Given the description of an element on the screen output the (x, y) to click on. 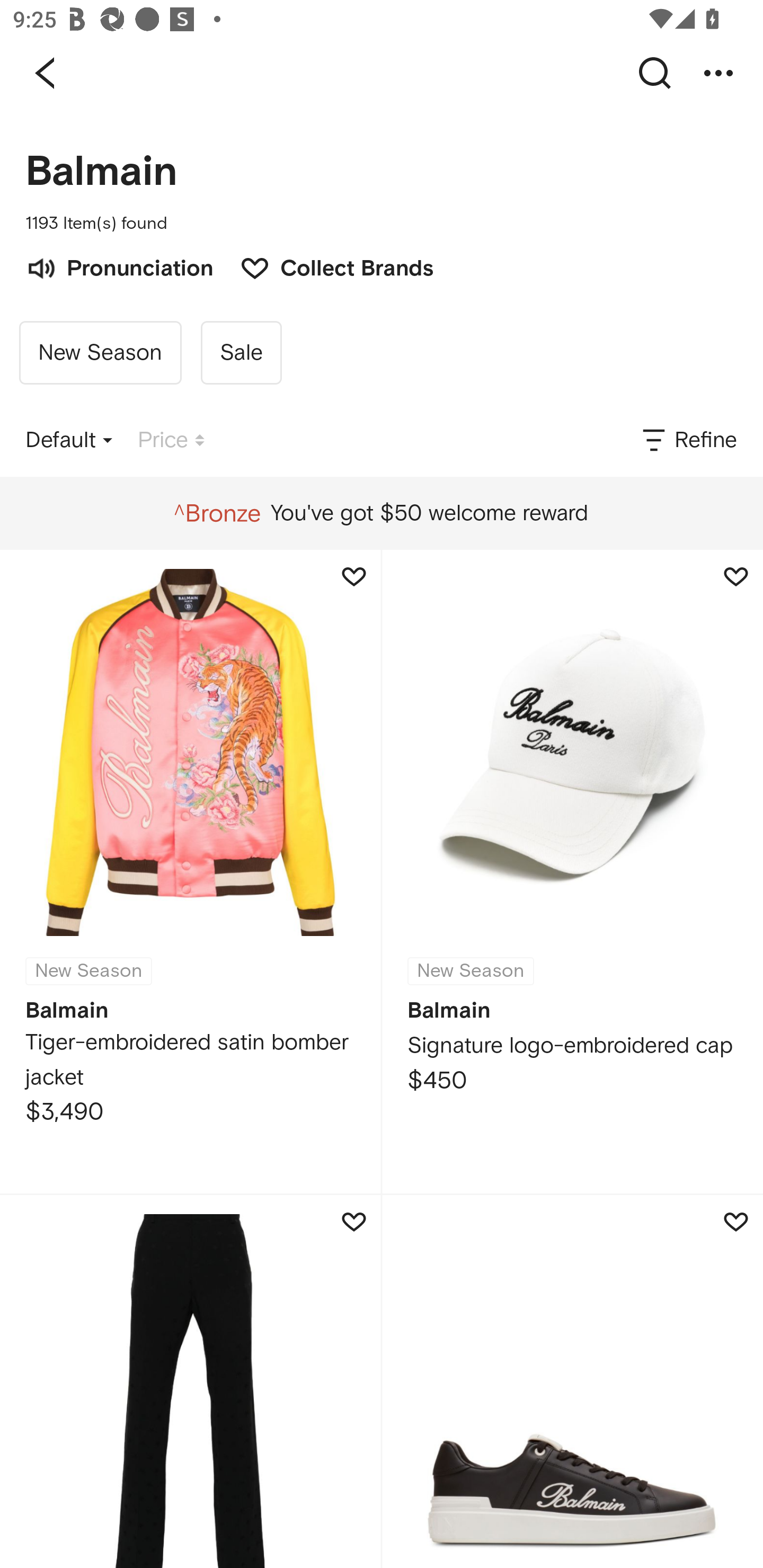
Pronunciation (119, 266)
Collect Brands (327, 266)
New Season (100, 352)
Sale (240, 352)
Default (68, 440)
Price (171, 440)
Refine (688, 440)
You've got $50 welcome reward (381, 513)
